Given the description of an element on the screen output the (x, y) to click on. 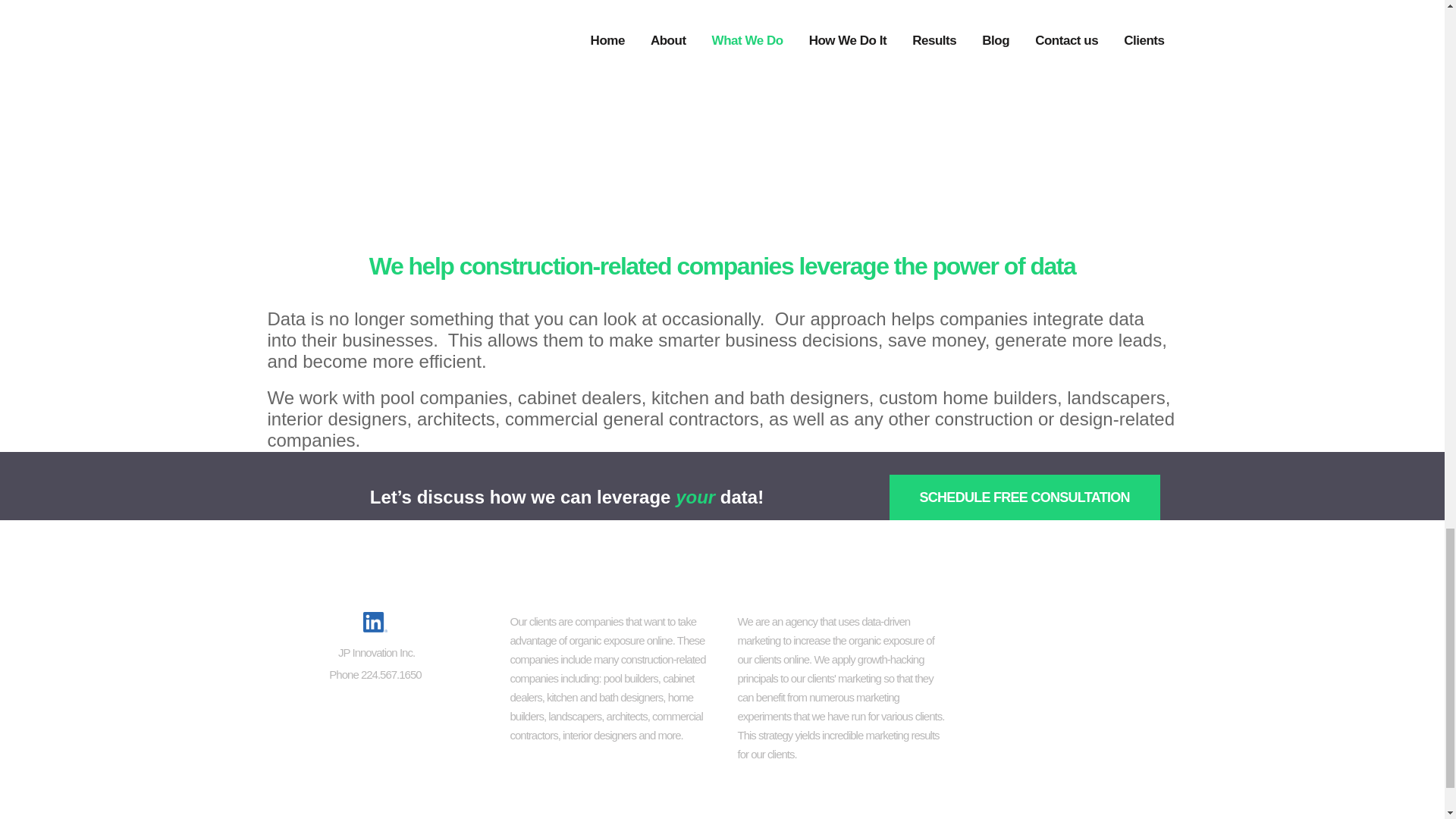
SEO for Contractors (1069, 624)
SCHEDULE FREE CONSULTATION (1023, 497)
Outrank Your Competitors (1069, 724)
